Given the description of an element on the screen output the (x, y) to click on. 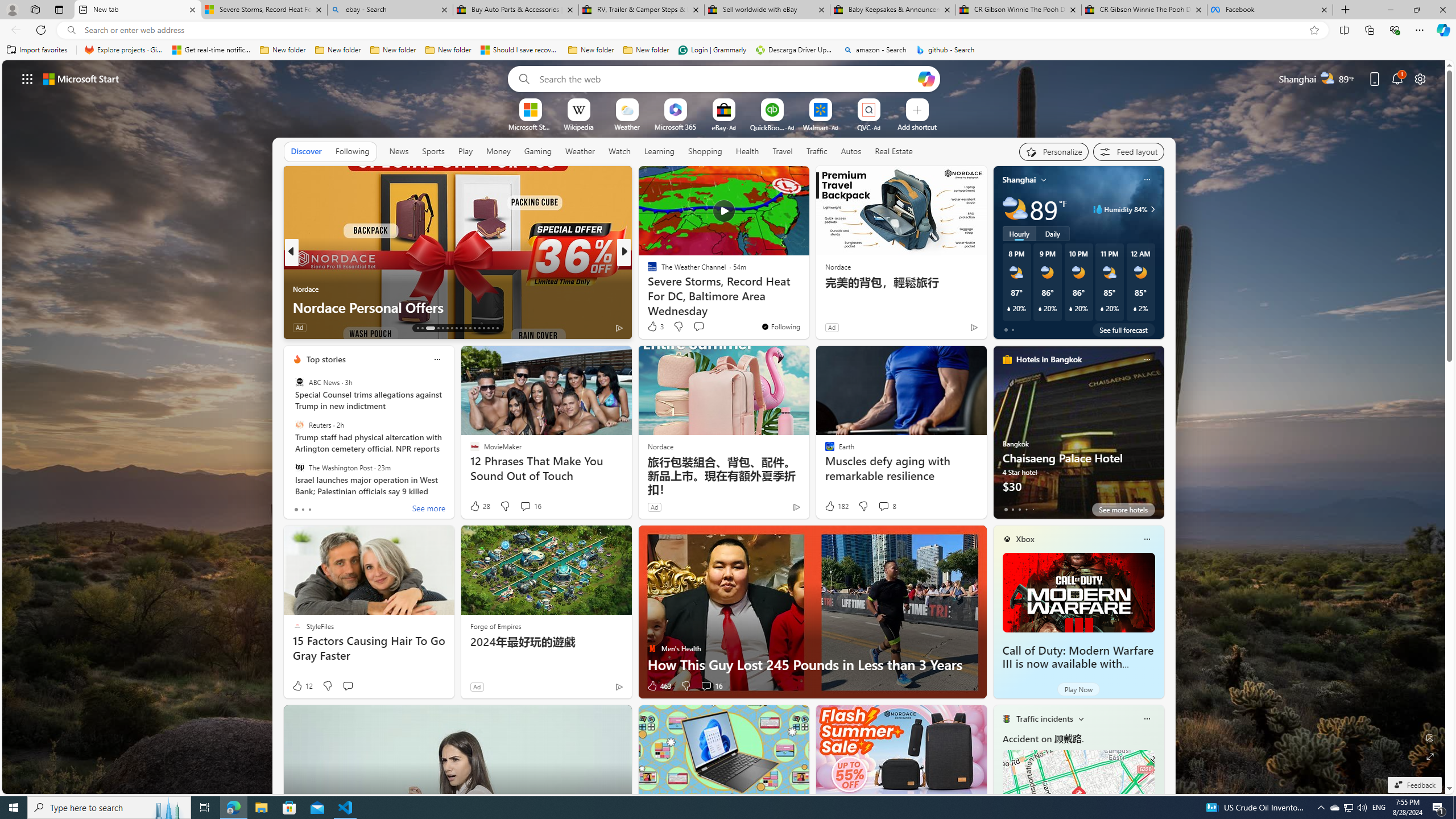
More Options (886, 101)
Shopping (705, 151)
116 Like (654, 327)
